Given the description of an element on the screen output the (x, y) to click on. 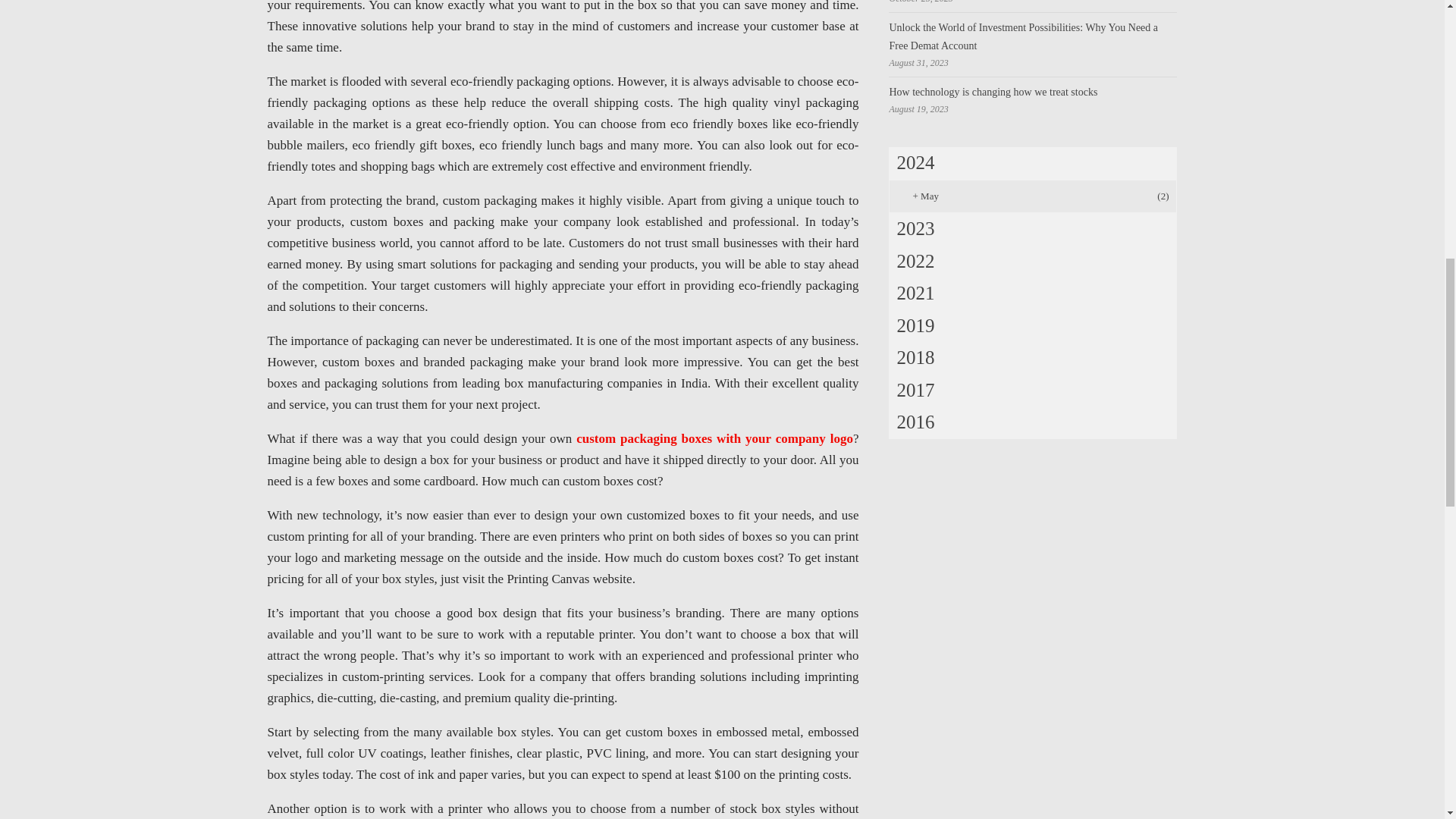
custom packaging boxes with your company logo (714, 438)
